Given the description of an element on the screen output the (x, y) to click on. 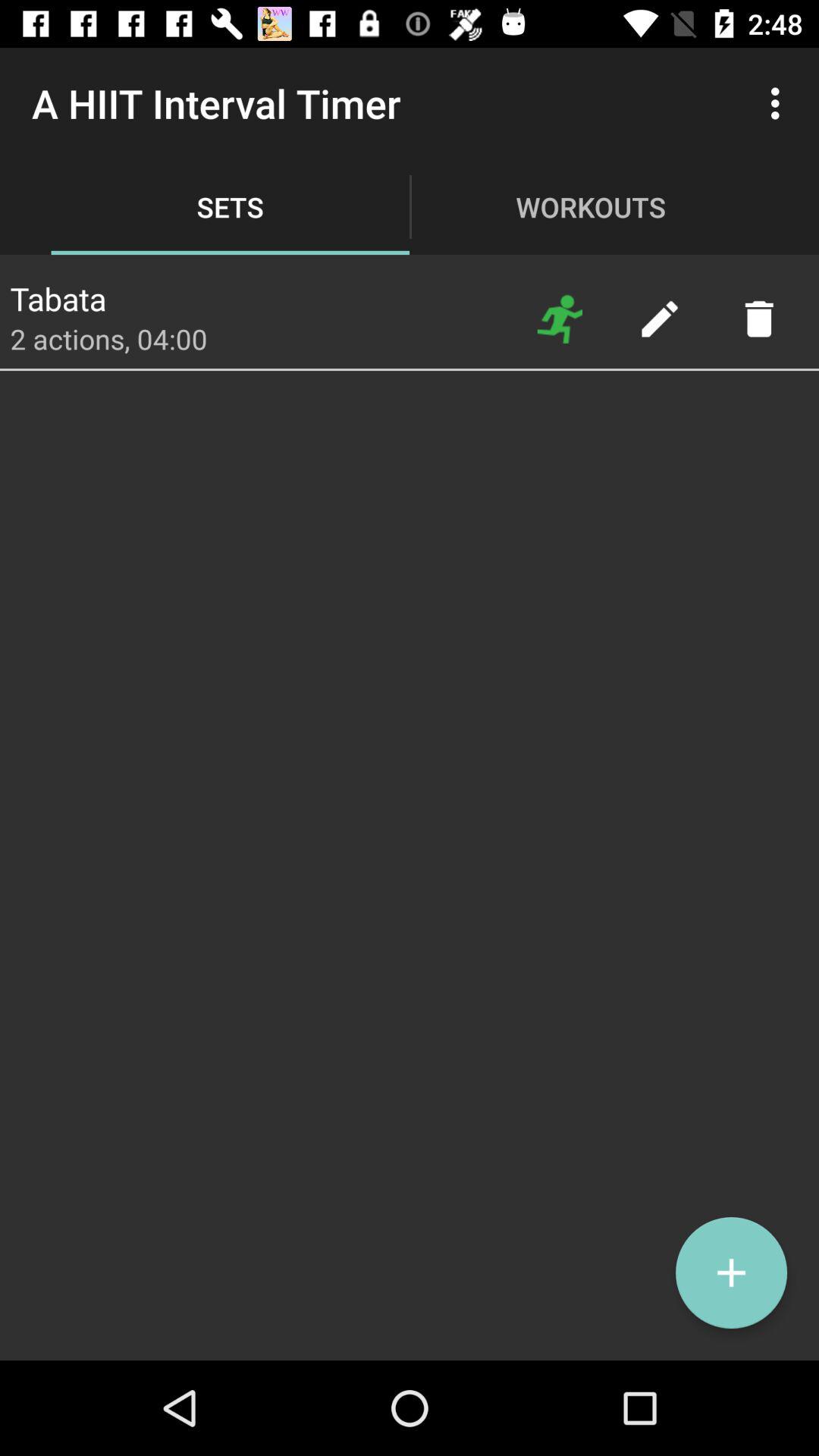
add set (731, 1272)
